Given the description of an element on the screen output the (x, y) to click on. 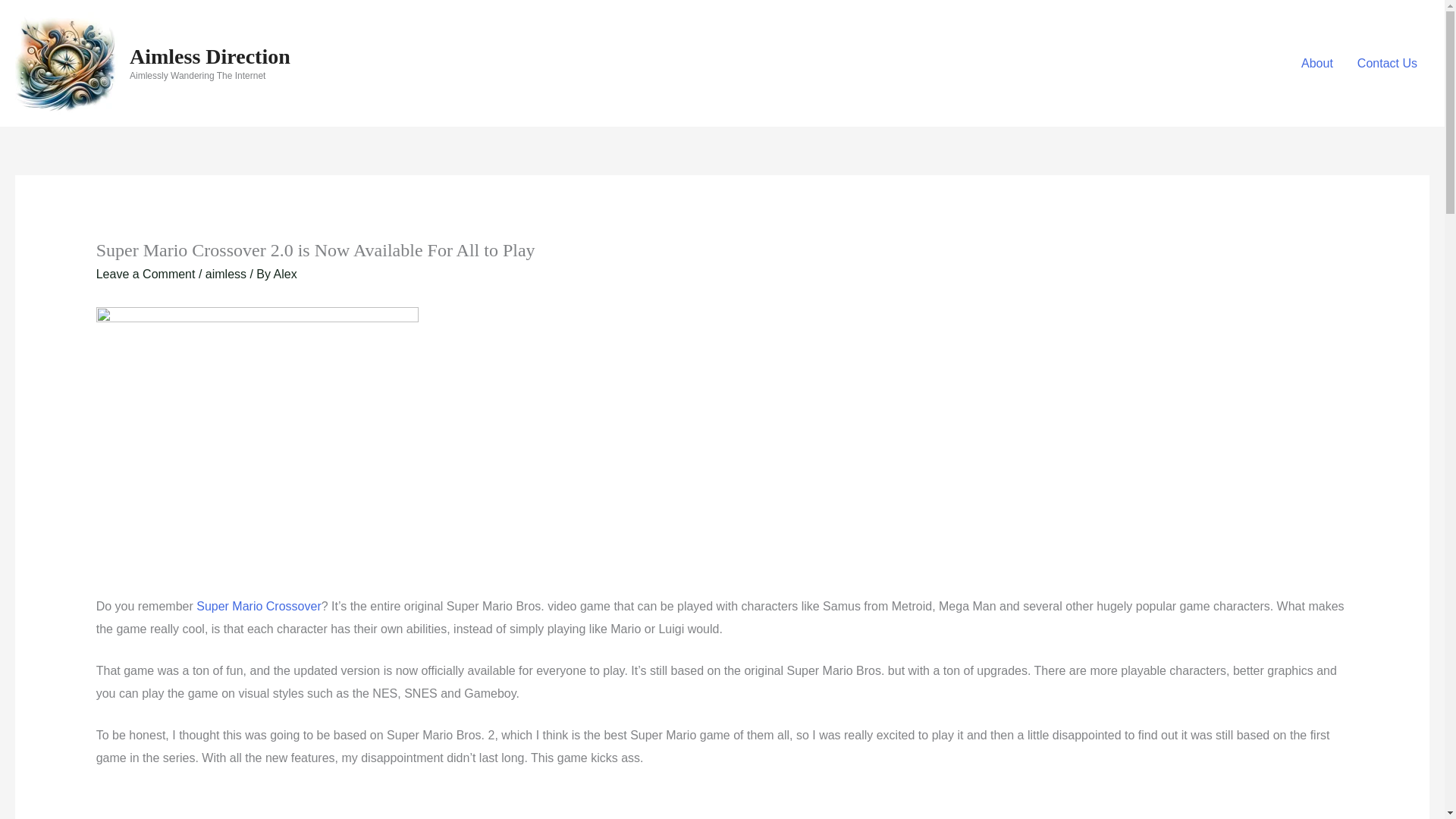
Aimless Direction (209, 56)
Alex (285, 273)
About (1316, 62)
Contact Us (1387, 62)
View all posts by Alex (285, 273)
aimless (225, 273)
super-mario-crossover-2-0 (257, 441)
Super Mario Crossover (258, 605)
Leave a Comment (145, 273)
